Given the description of an element on the screen output the (x, y) to click on. 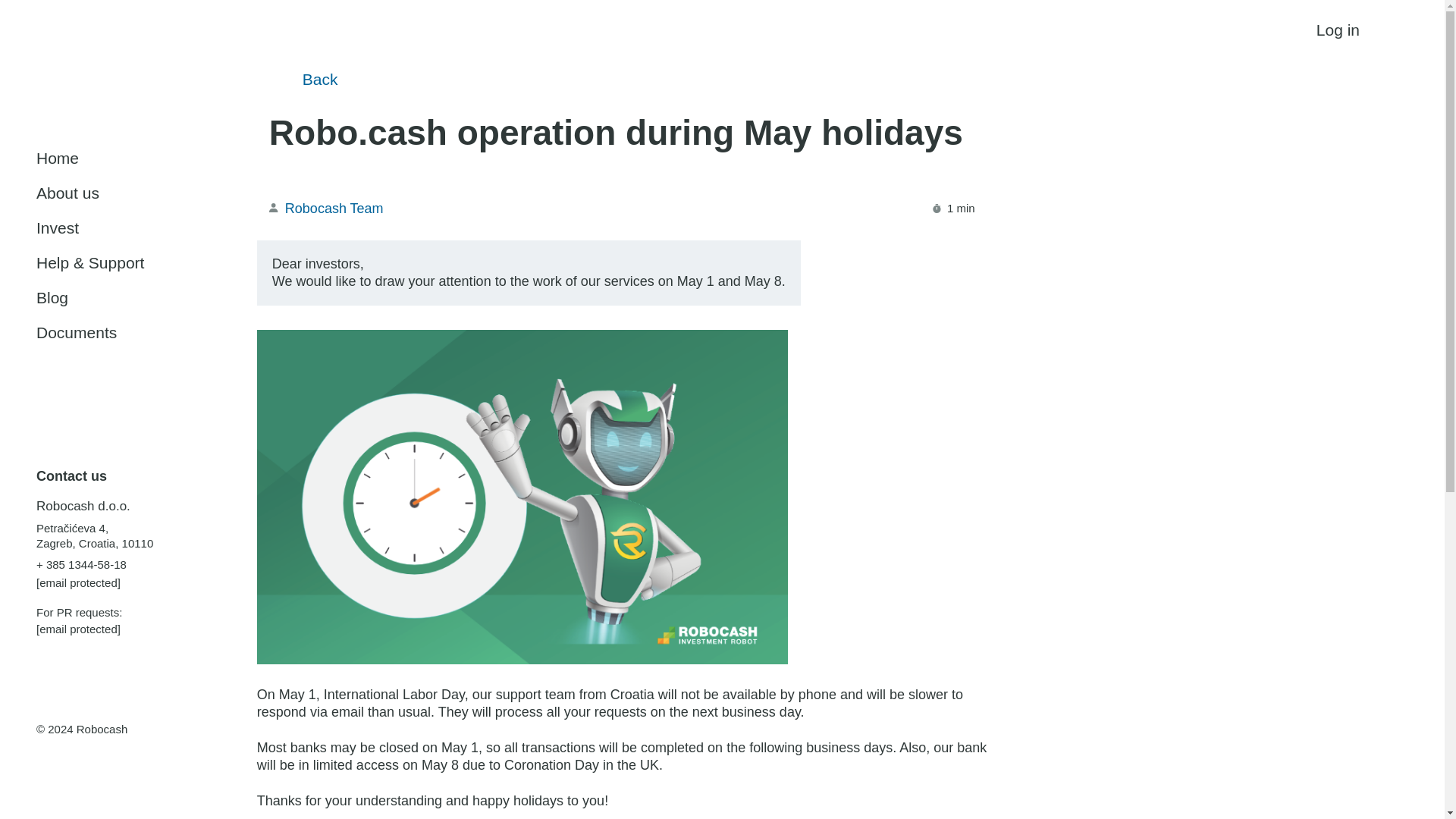
Robocash Team (326, 208)
Home (140, 158)
Blog (140, 297)
Log in (1361, 30)
Back (303, 79)
Documents (140, 332)
About us (140, 193)
Invest (140, 228)
